Given the description of an element on the screen output the (x, y) to click on. 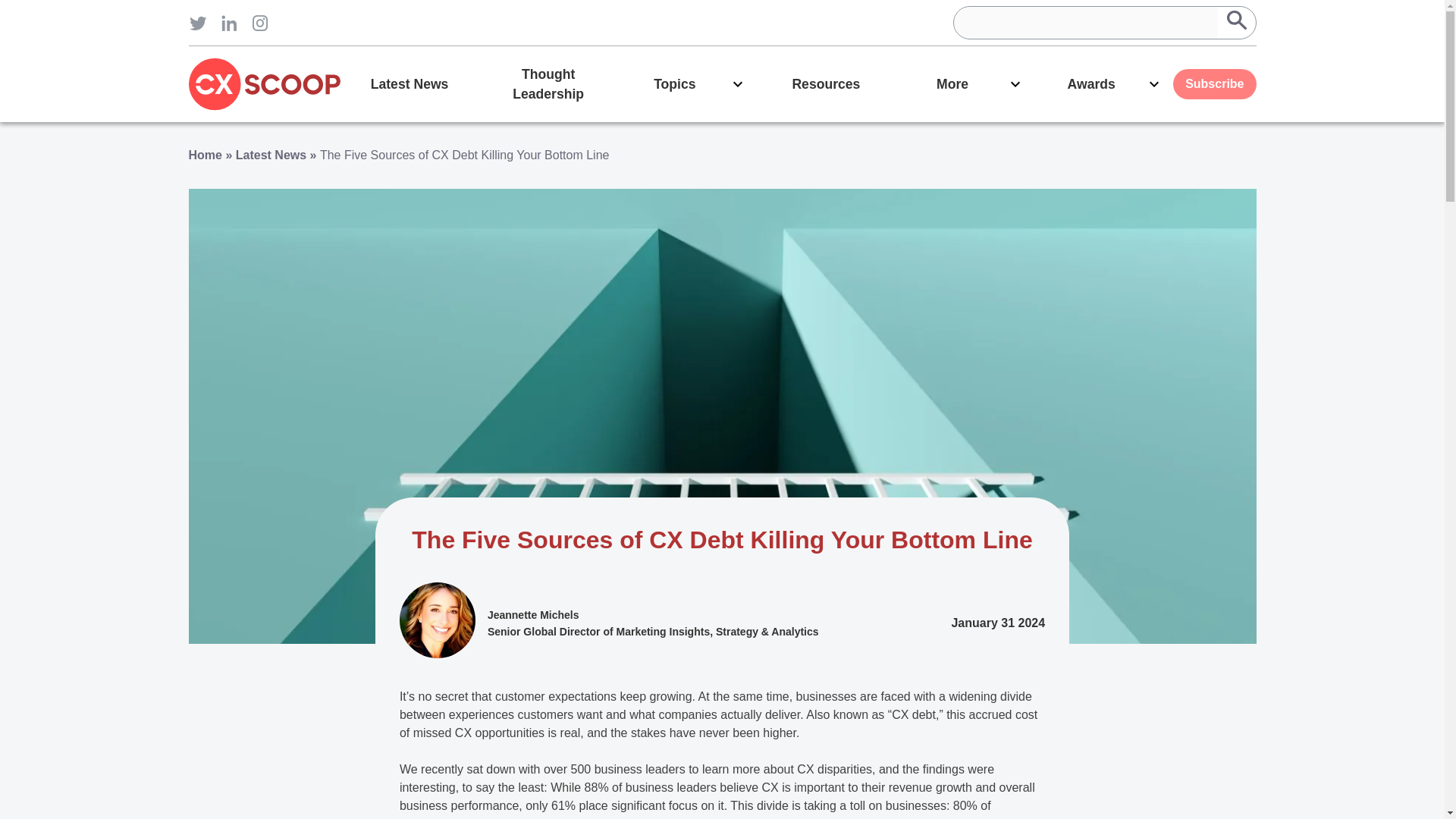
Thought Leadership (548, 83)
Latest News (409, 83)
More (964, 83)
Subscribe (1214, 83)
Topics (687, 83)
Jeannette Michels (533, 614)
Awards (1103, 83)
Latest News (270, 154)
Home (204, 154)
January 31 2024 (997, 623)
